Given the description of an element on the screen output the (x, y) to click on. 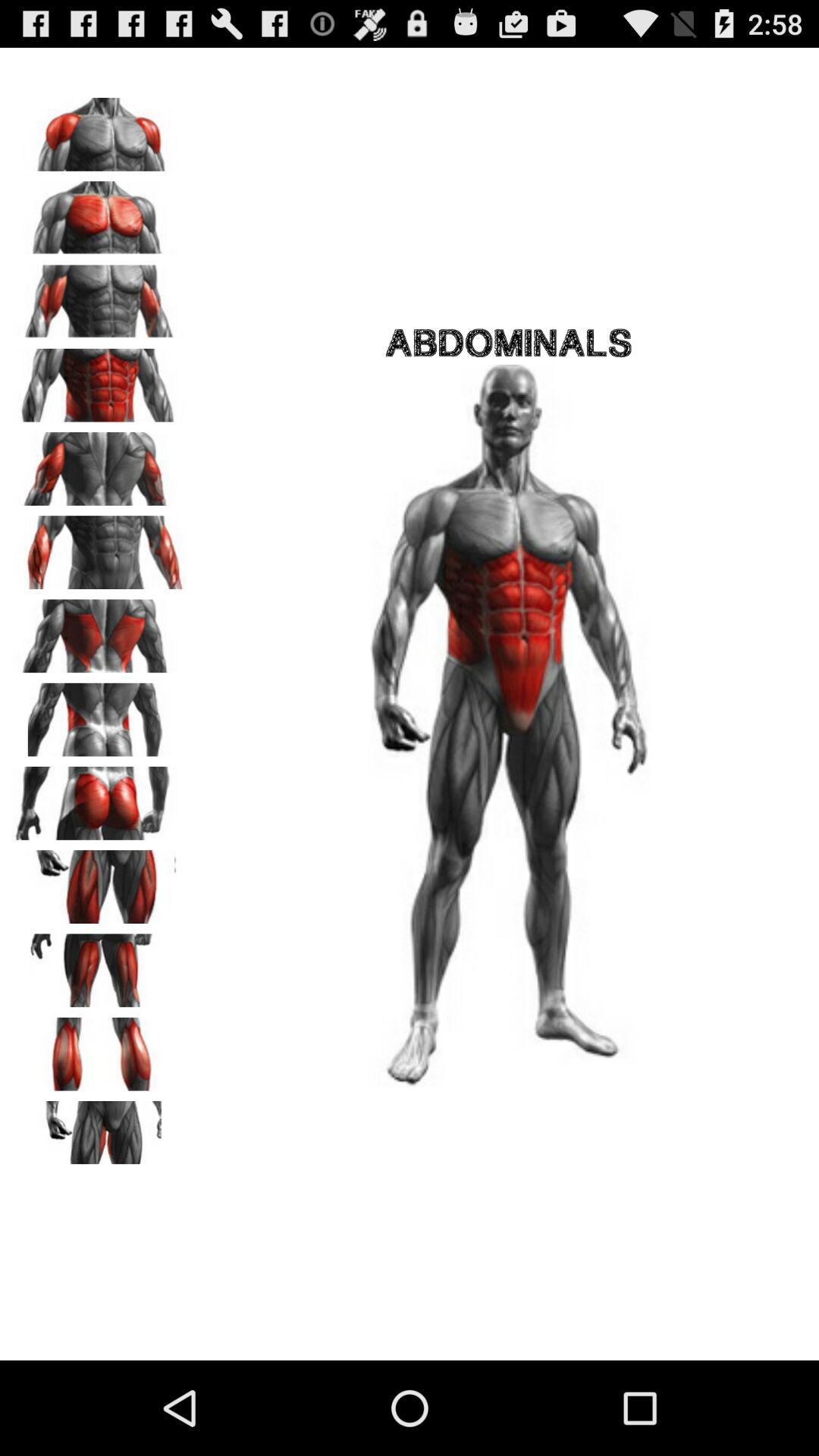
show the picture (99, 547)
